Given the description of an element on the screen output the (x, y) to click on. 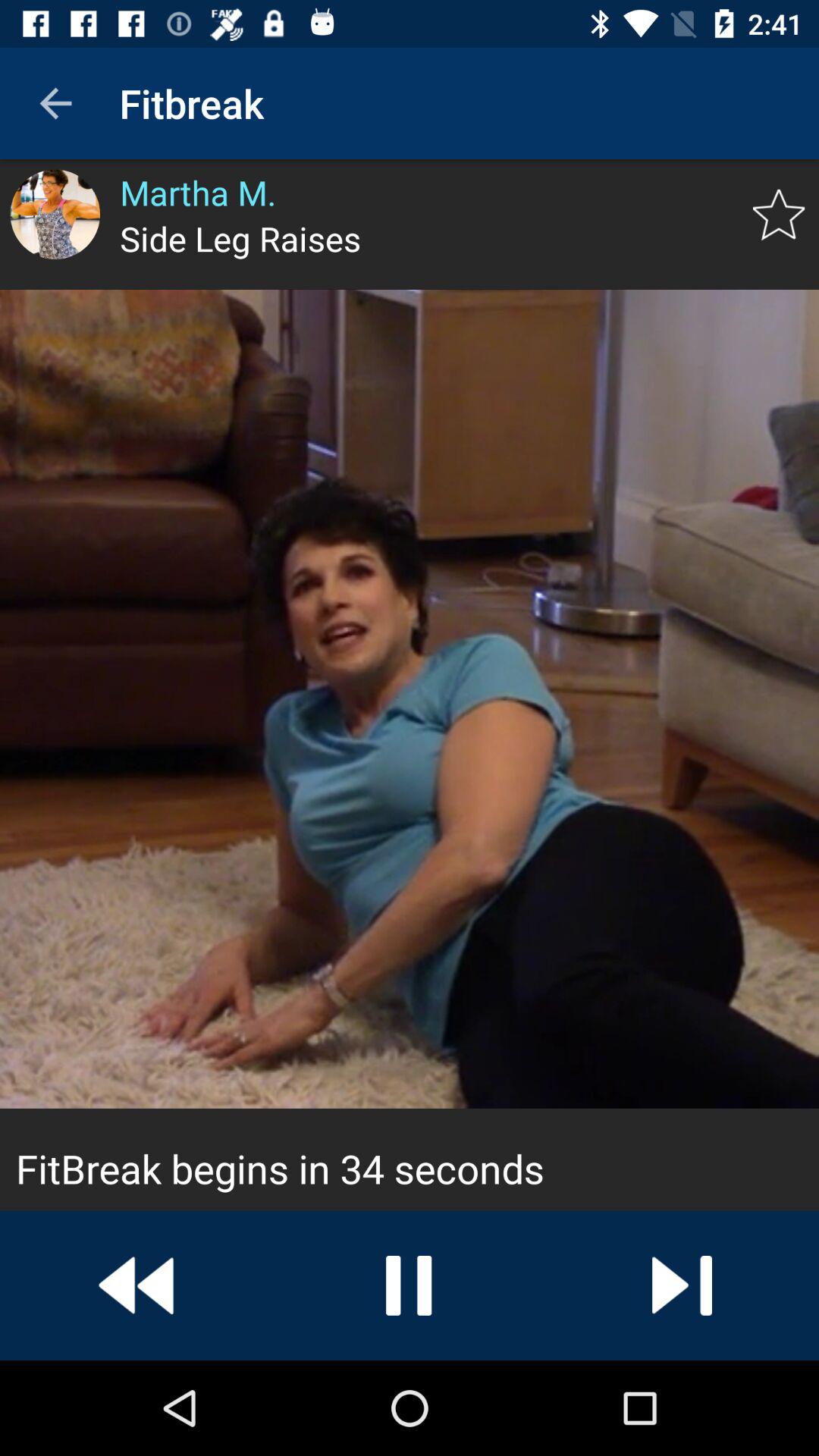
open item next to fitbreak app (55, 103)
